Given the description of an element on the screen output the (x, y) to click on. 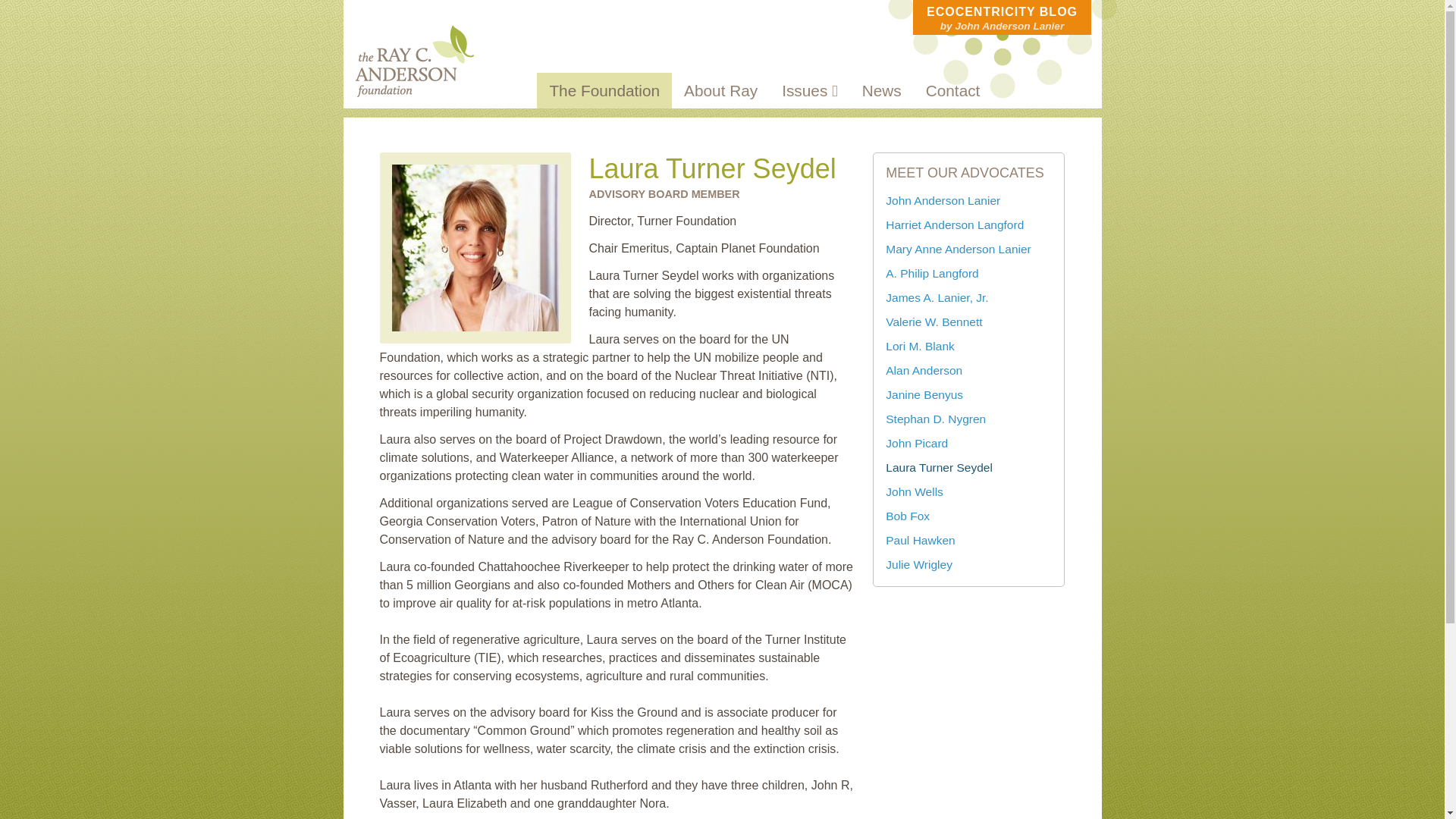
News (882, 90)
Janine Benyus (923, 394)
The Foundation (604, 90)
Paul Hawken (920, 539)
Lori M. Blank (920, 345)
James A. Lanier, Jr. (936, 297)
Contact (953, 90)
Issues (810, 90)
Valerie W. Bennett (933, 321)
Alan Anderson (923, 370)
Bob Fox (907, 515)
Janine Benyus (923, 394)
James A. Lanier, Jr. (936, 297)
Issues (810, 90)
Stephan D. Nygren (935, 418)
